Given the description of an element on the screen output the (x, y) to click on. 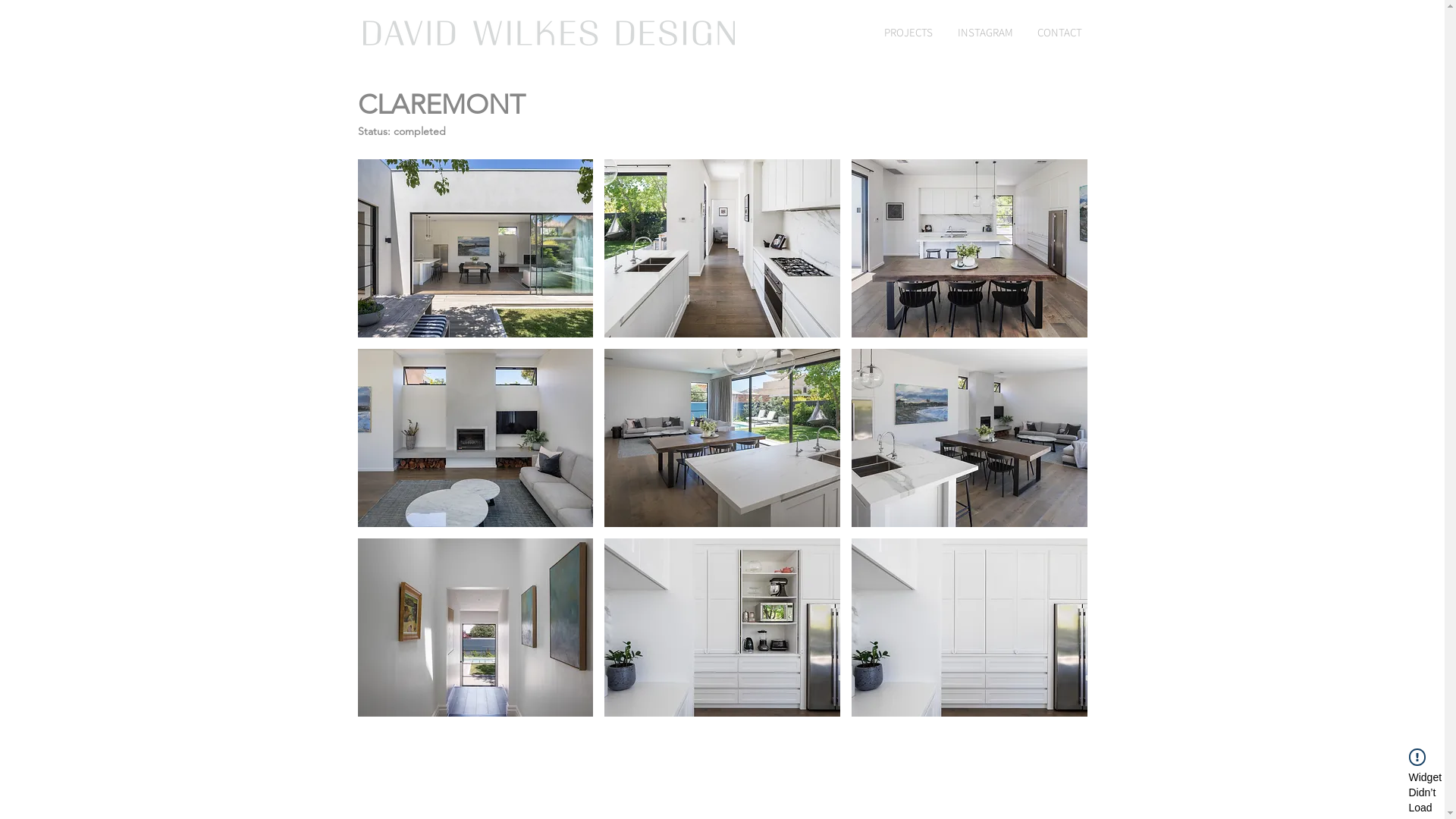
PROJECTS Element type: text (908, 31)
CONTACT Element type: text (1059, 31)
210527_David-Wilkes-Design_Brand-Identit Element type: hover (548, 32)
INSTAGRAM Element type: text (984, 31)
